Given the description of an element on the screen output the (x, y) to click on. 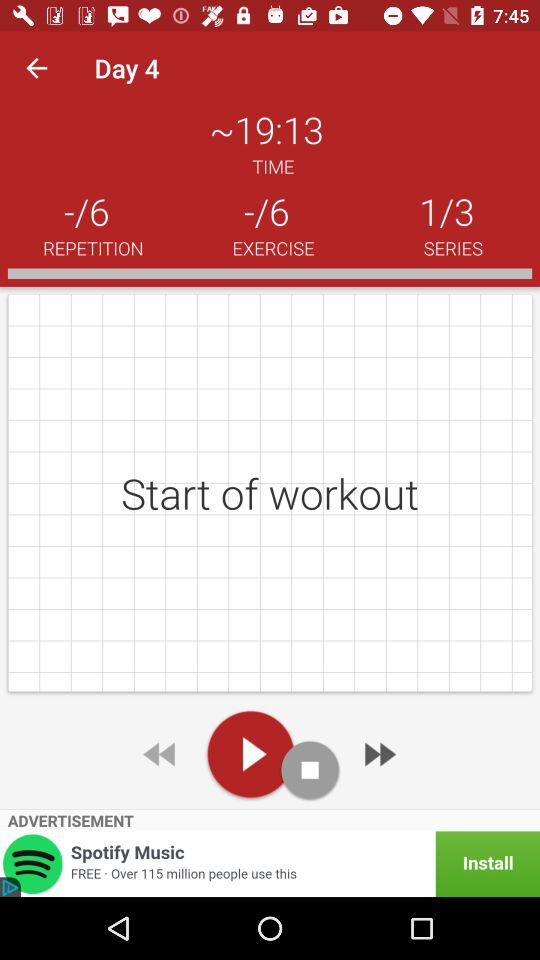
go forward (378, 754)
